Given the description of an element on the screen output the (x, y) to click on. 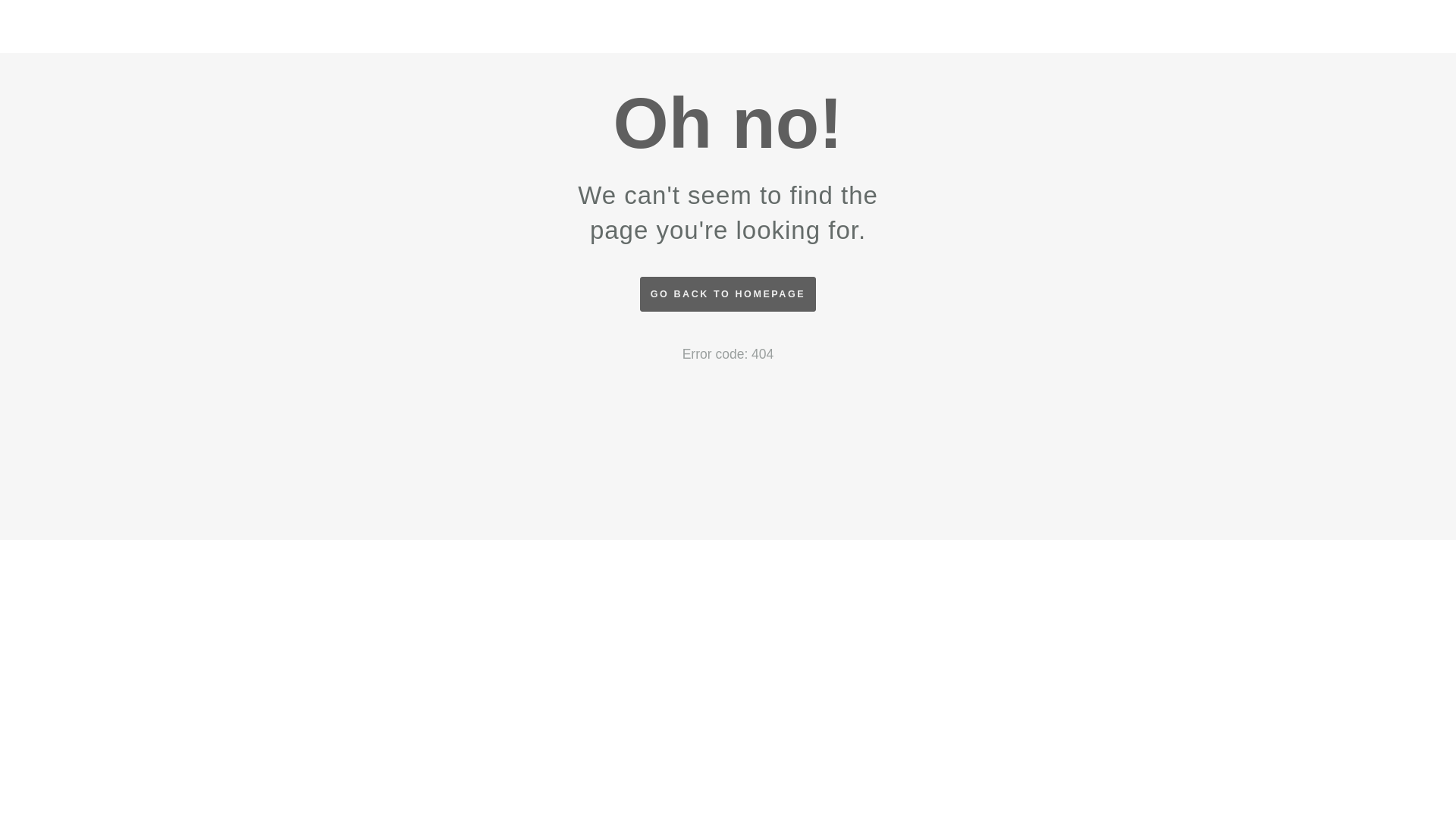
GO BACK TO HOMEPAGE (727, 294)
